Given the description of an element on the screen output the (x, y) to click on. 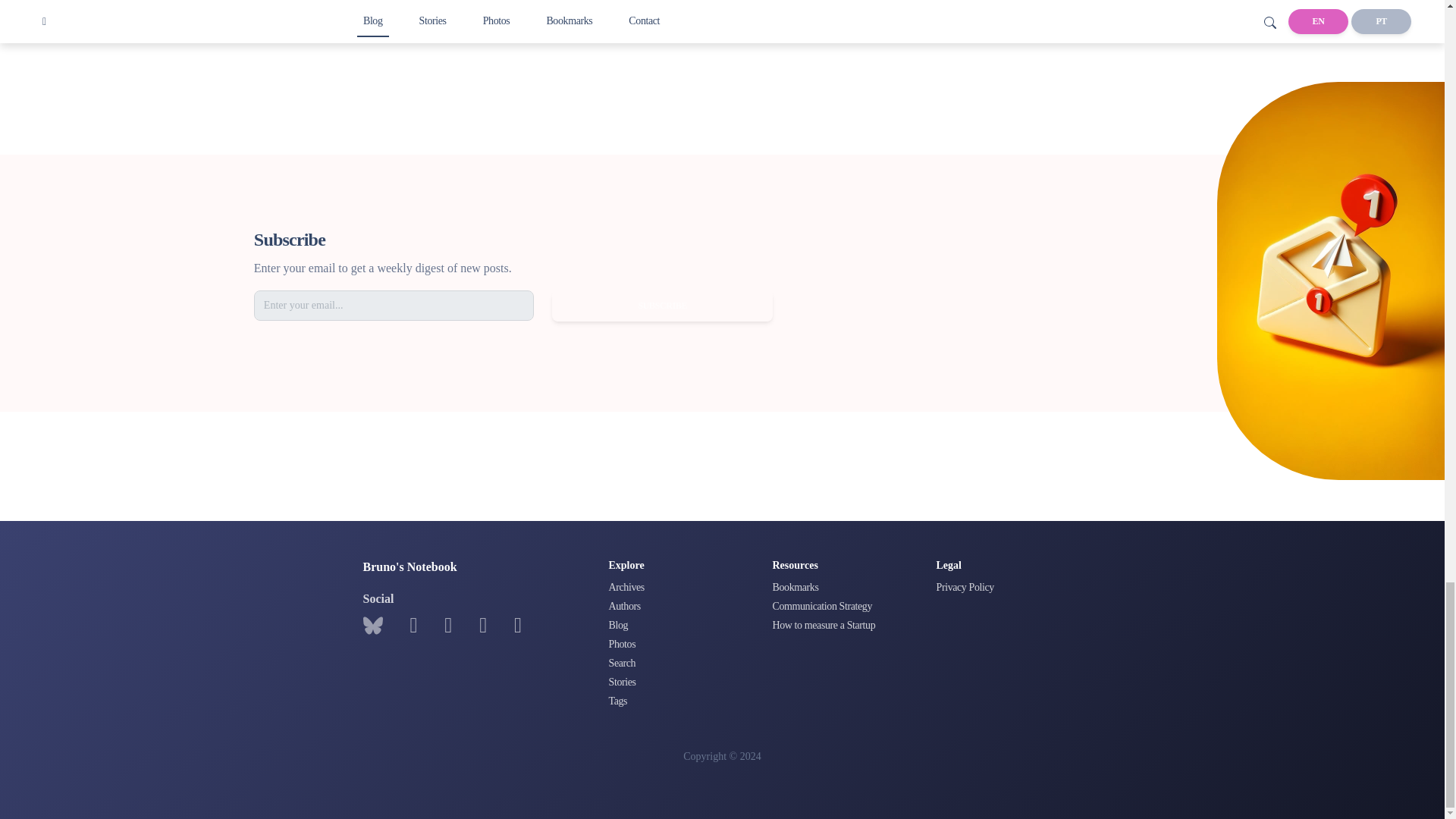
mastodon (517, 625)
linkedin (482, 625)
github (412, 625)
instagram (447, 625)
